Given the description of an element on the screen output the (x, y) to click on. 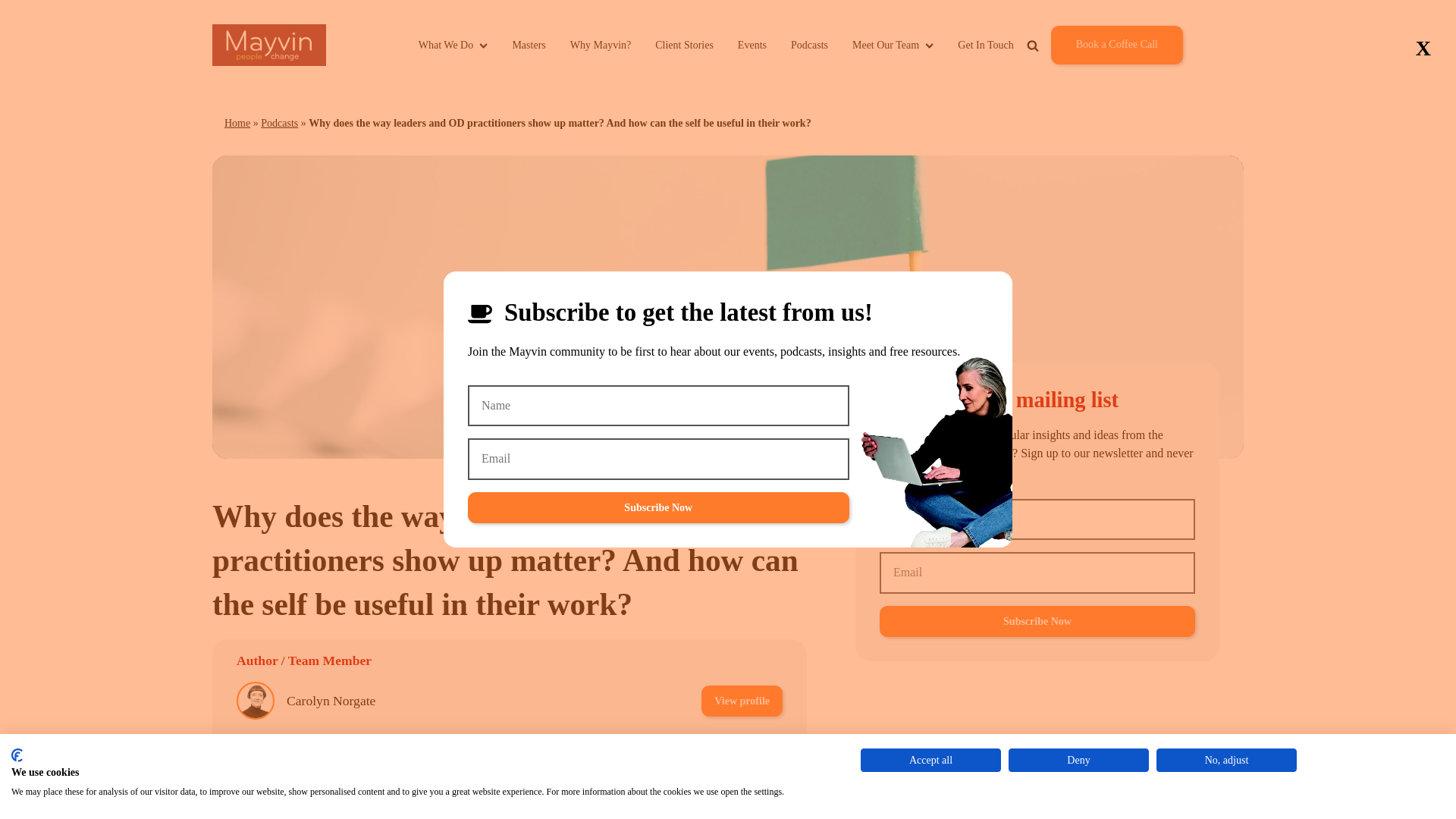
Podcasts (809, 45)
Accept all (930, 760)
Carolyn Norgate (330, 700)
Podcast (642, 805)
View profile (742, 753)
X (1423, 48)
Organisation Development (513, 805)
Subscribe Now (657, 507)
Book a Coffee Call (1116, 44)
View profile (742, 700)
Subscribe Now (1037, 621)
Events (752, 45)
Masters (528, 45)
Podcasts (279, 122)
Client Stories (684, 45)
